Given the description of an element on the screen output the (x, y) to click on. 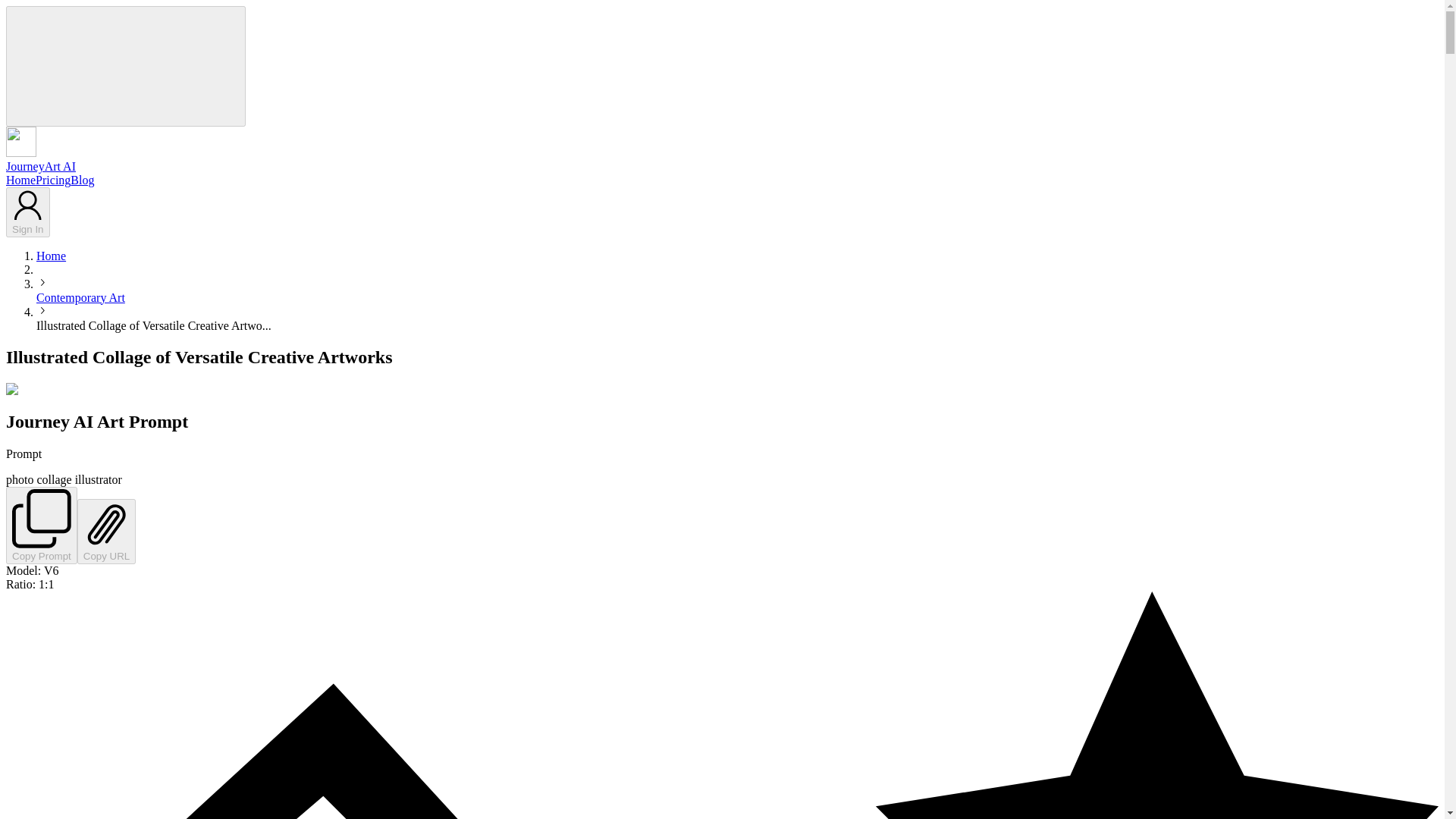
Blog (81, 179)
Home (19, 179)
Copy Prompt (41, 525)
Copy URL (106, 530)
Contemporary Art (80, 297)
Pricing (51, 179)
Home (50, 254)
